Given the description of an element on the screen output the (x, y) to click on. 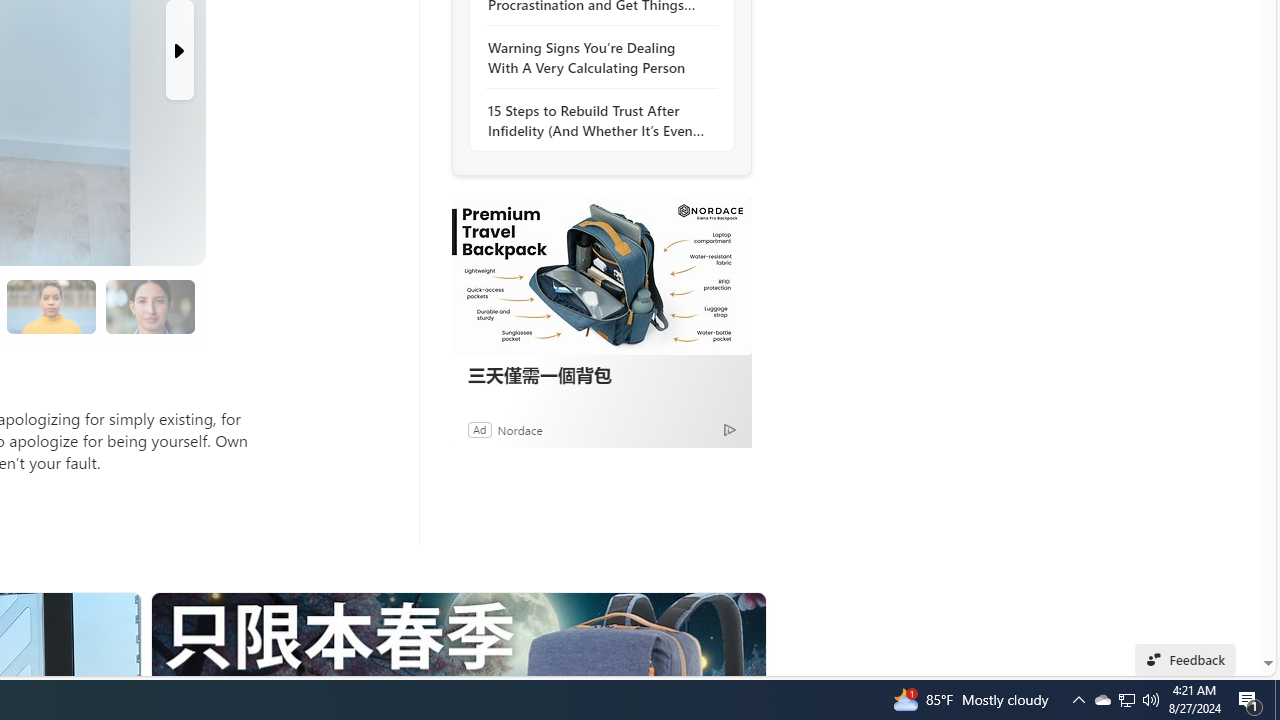
Ad Choice (729, 429)
Class: progress (149, 303)
Next Slide (179, 50)
